Given the description of an element on the screen output the (x, y) to click on. 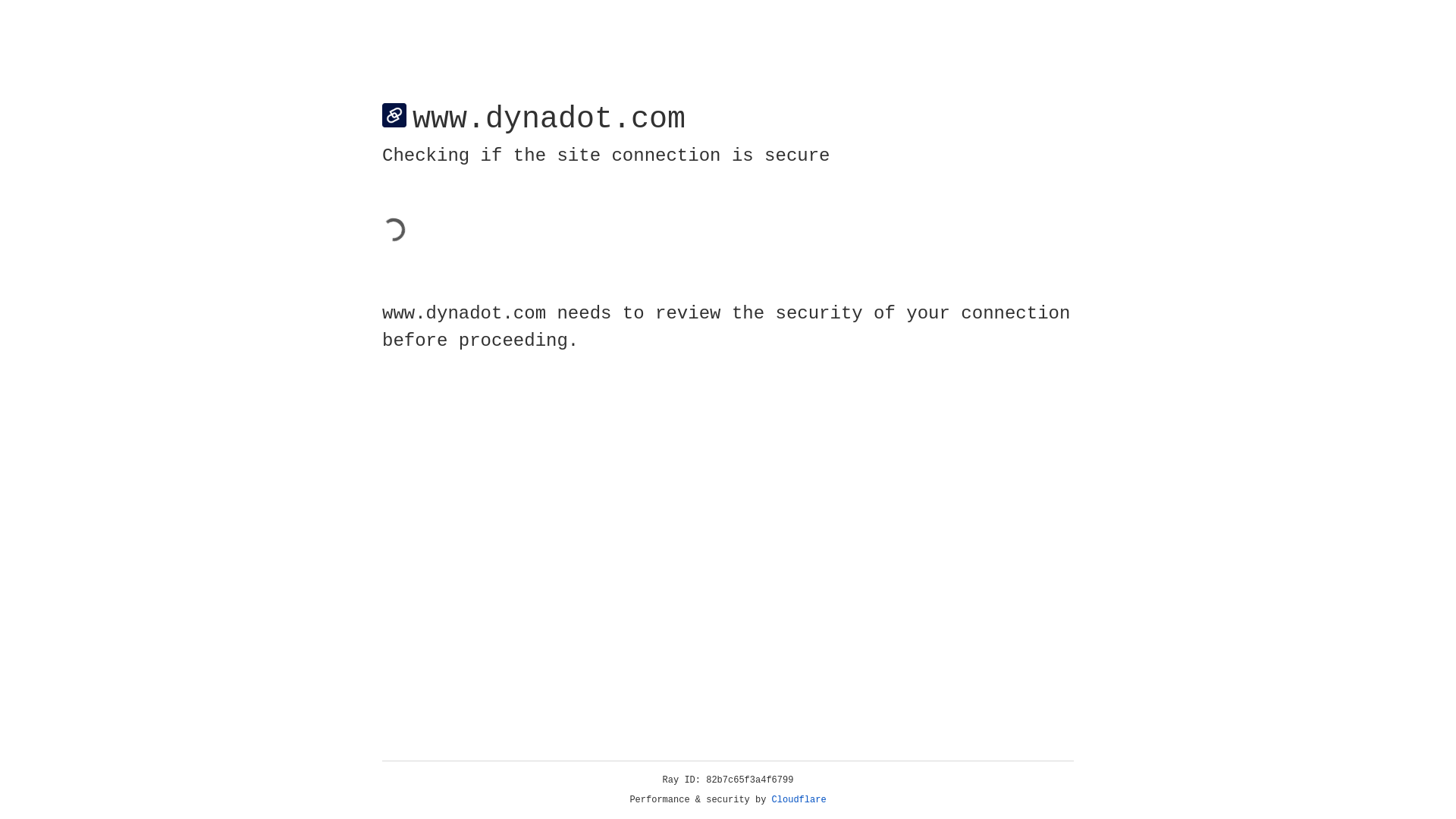
Cloudflare Element type: text (798, 799)
